Given the description of an element on the screen output the (x, y) to click on. 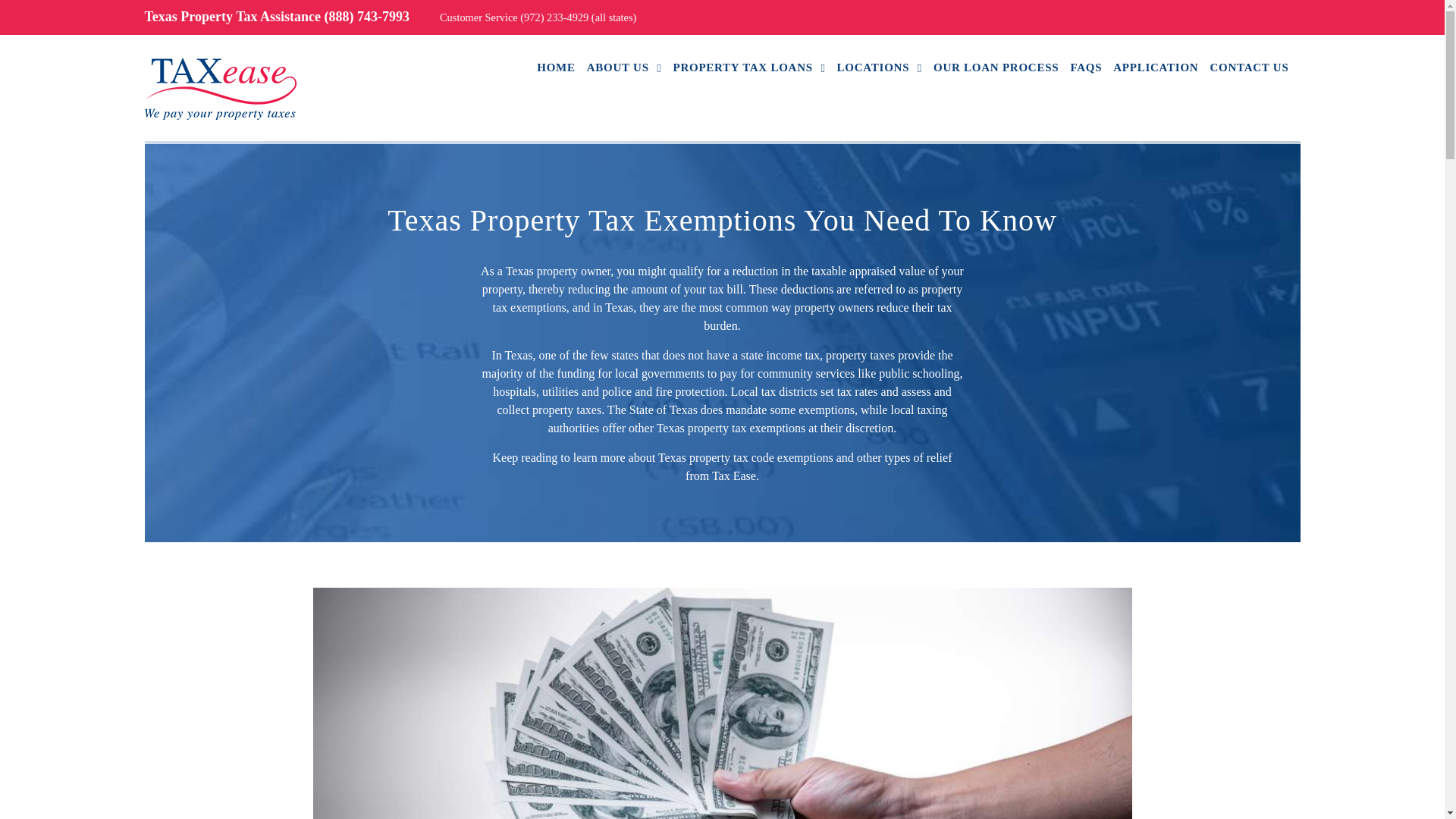
LOCATIONS (879, 66)
Property Tax Loans Texas (748, 66)
APPLICATION (1155, 66)
Texas Property Tax Loan Process (995, 66)
CONTACT US (1248, 66)
OUR LOAN PROCESS (995, 66)
About Tax Ease (624, 66)
Offices in Texas for Property Tax Loan Consulting (879, 66)
PROPERTY TAX LOANS (748, 66)
ABOUT US (624, 66)
